Given the description of an element on the screen output the (x, y) to click on. 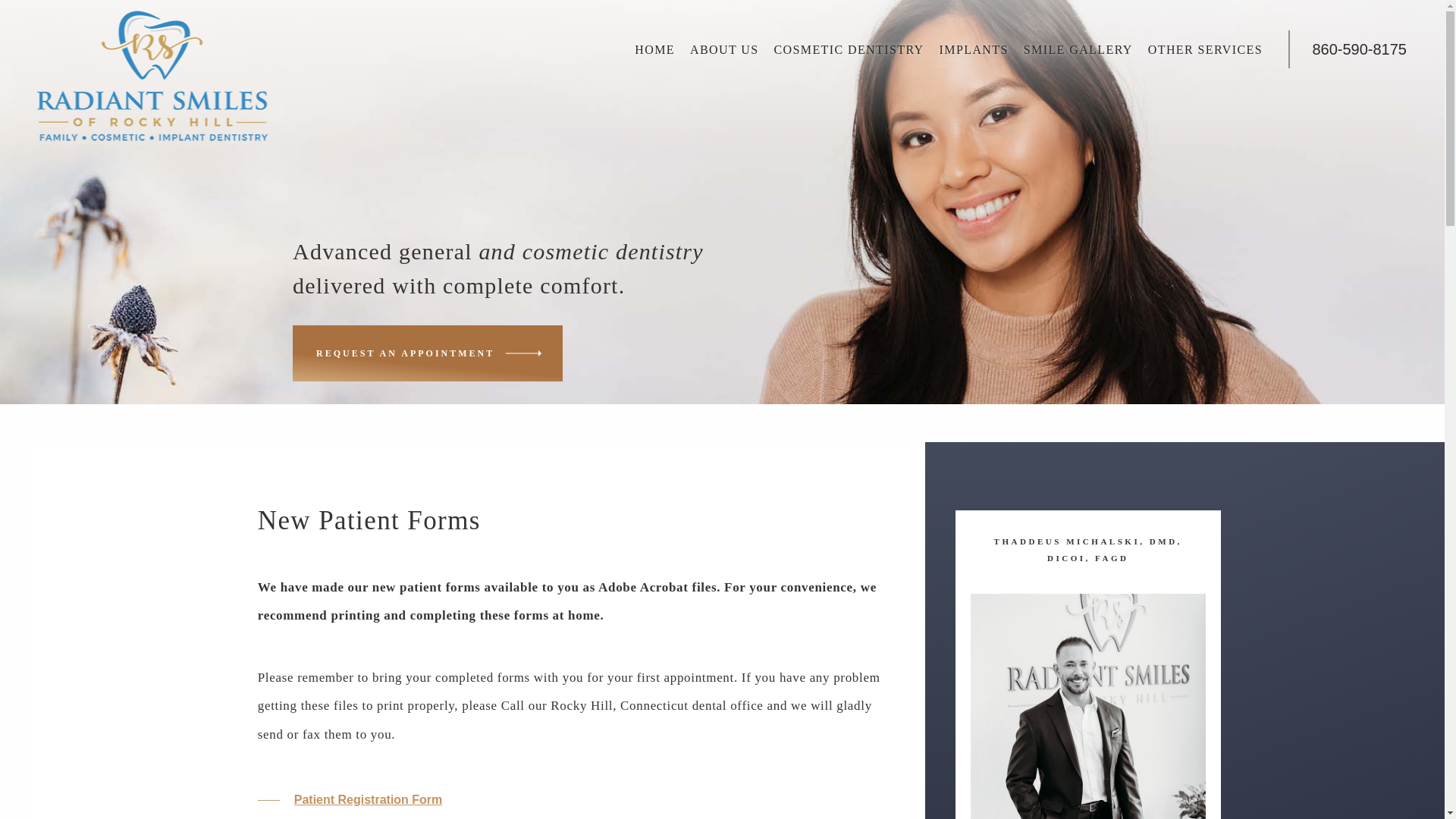
SMILE GALLERY (1078, 49)
Patient Registration Form (368, 799)
OTHER SERVICES (1204, 49)
860-590-8175 (1358, 49)
COSMETIC DENTISTRY (848, 49)
HOME (654, 49)
REQUEST AN APPOINTMENT (427, 353)
ABOUT US (723, 49)
IMPLANTS (973, 49)
